Given the description of an element on the screen output the (x, y) to click on. 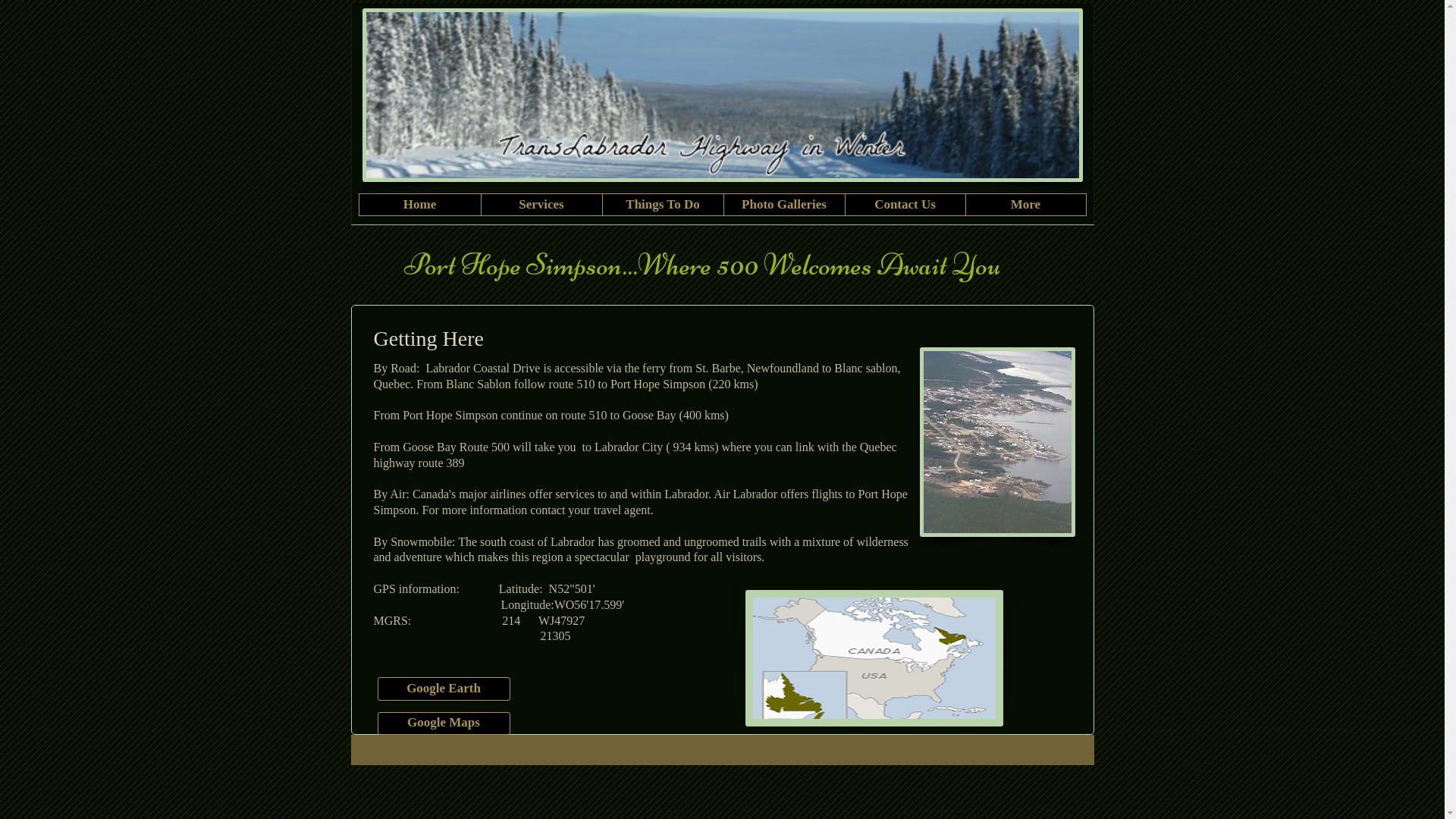
Things To Do Element type: text (662, 204)
Google Maps Element type: text (443, 723)
Home Element type: text (419, 204)
Log In Element type: text (1043, 114)
Services Element type: text (541, 204)
Contact Us Element type: text (904, 204)
Photo Galleries Element type: text (783, 204)
Google Earth Element type: text (443, 688)
